Given the description of an element on the screen output the (x, y) to click on. 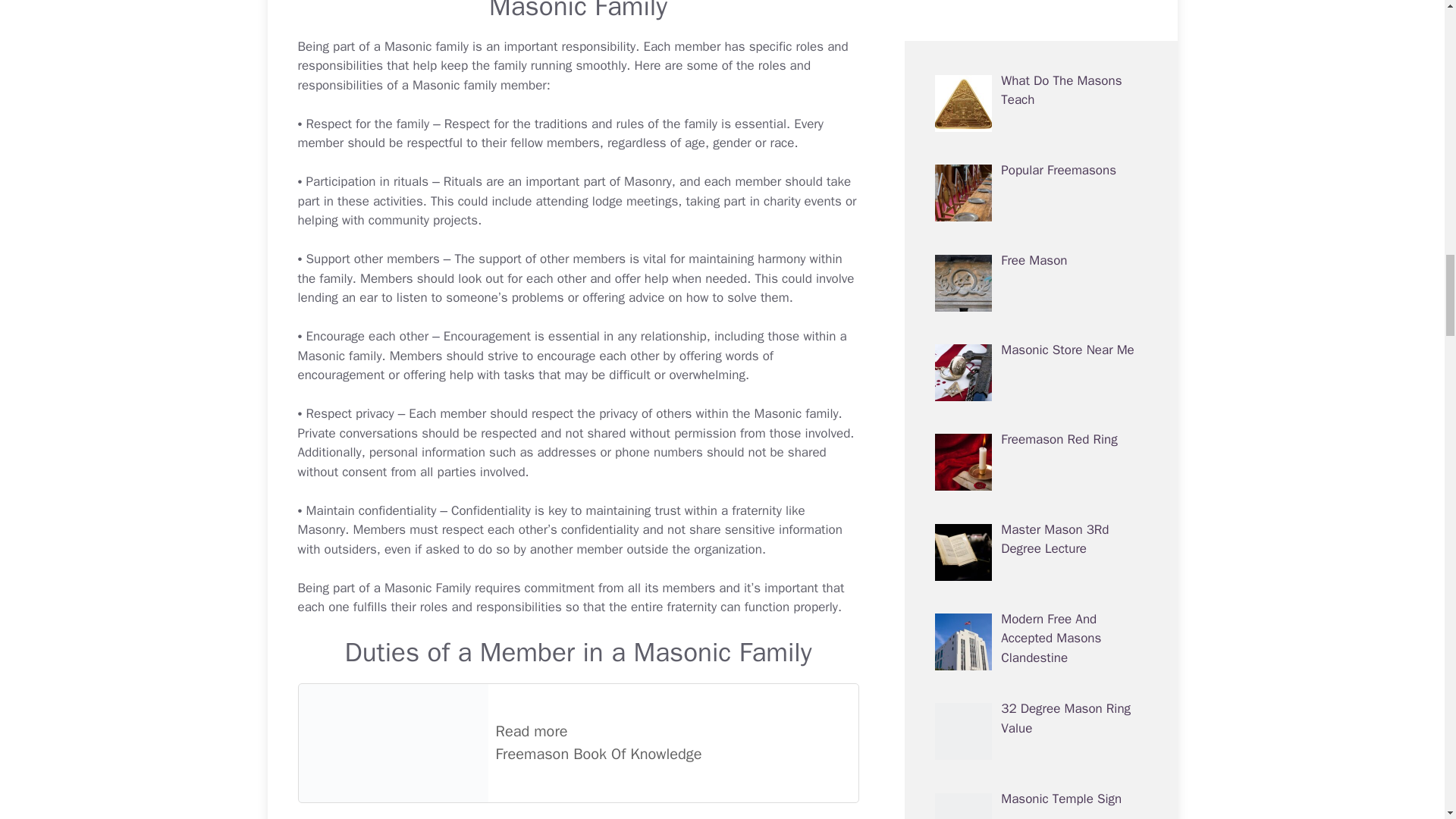
Masonic Family (577, 11)
phone numbers (658, 452)
Freemasons Hall Phone Number (658, 452)
